Given the description of an element on the screen output the (x, y) to click on. 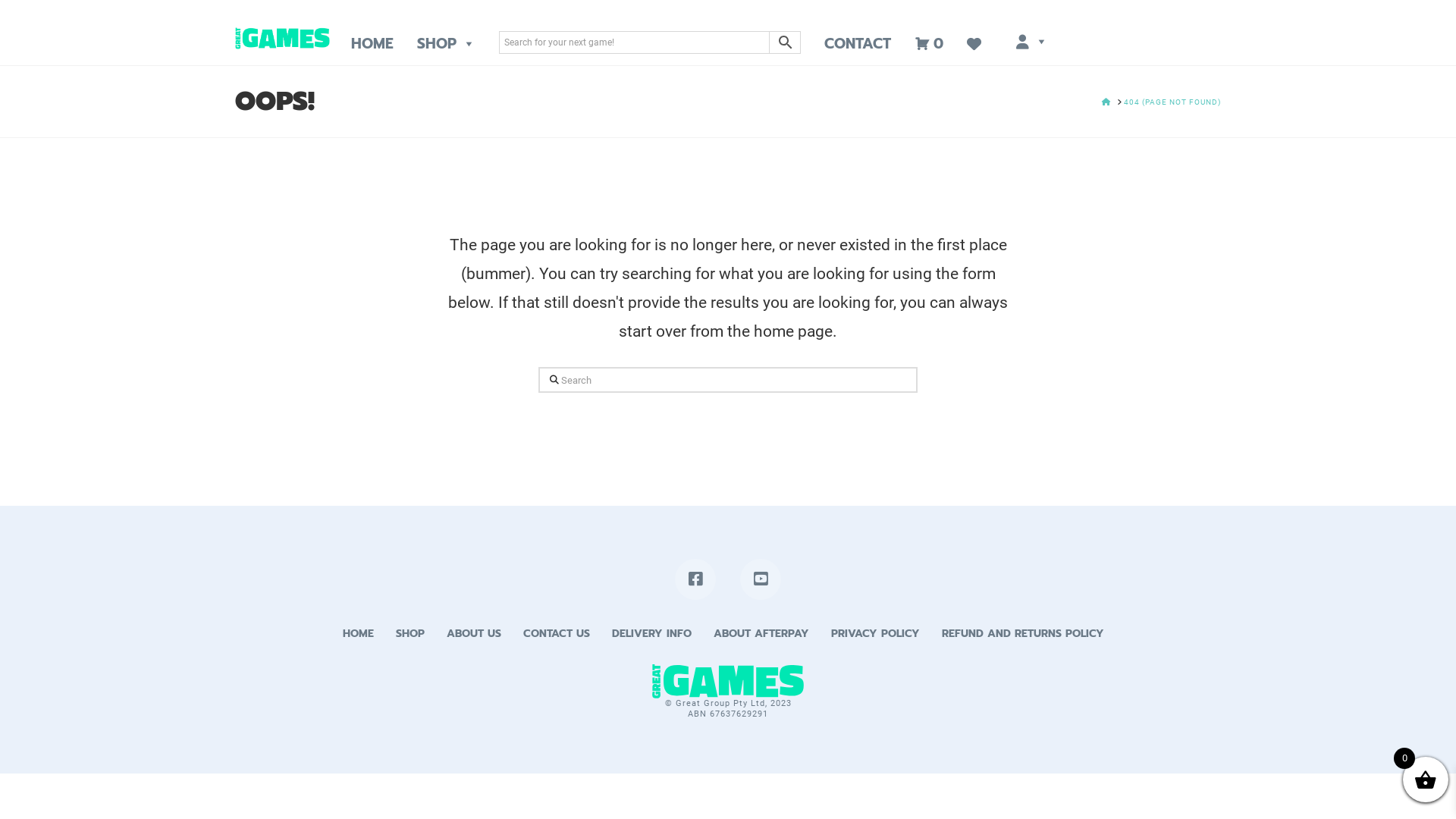
HOME Element type: text (1105, 101)
CONTACT US Element type: text (556, 633)
SHOP Element type: text (409, 633)
SHOP Element type: text (446, 43)
0 Element type: text (928, 43)
ABOUT US Element type: text (472, 633)
HOME Element type: text (372, 43)
DELIVERY INFO Element type: text (650, 633)
Facebook Element type: hover (694, 578)
HOME Element type: text (357, 633)
ABOUT AFTERPAY Element type: text (760, 633)
CONTACT Element type: text (857, 43)
YouTube Element type: hover (760, 578)
REFUND AND RETURNS POLICY Element type: text (1022, 633)
404 (PAGE NOT FOUND) Element type: text (1171, 101)
PRIVACY POLICY Element type: text (875, 633)
